Given the description of an element on the screen output the (x, y) to click on. 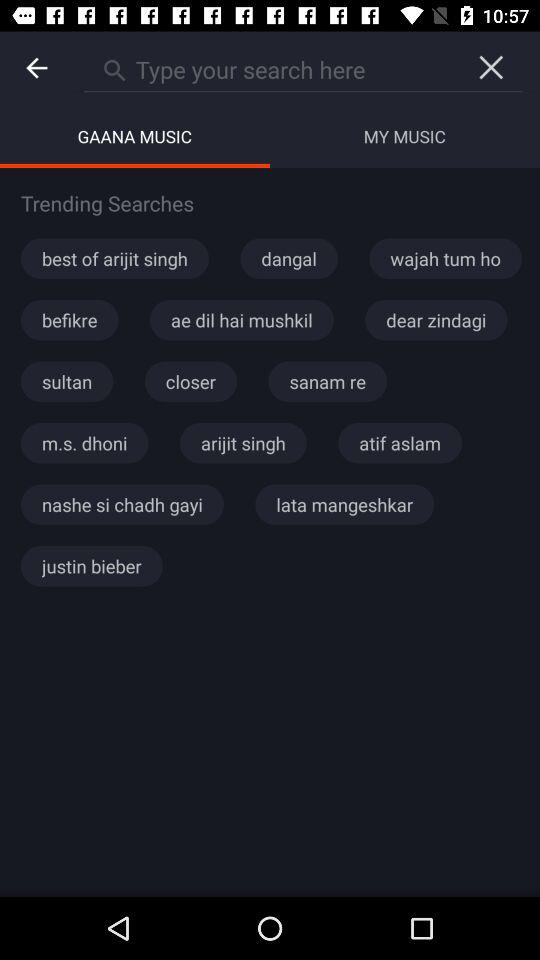
launch ae dil hai icon (241, 320)
